Given the description of an element on the screen output the (x, y) to click on. 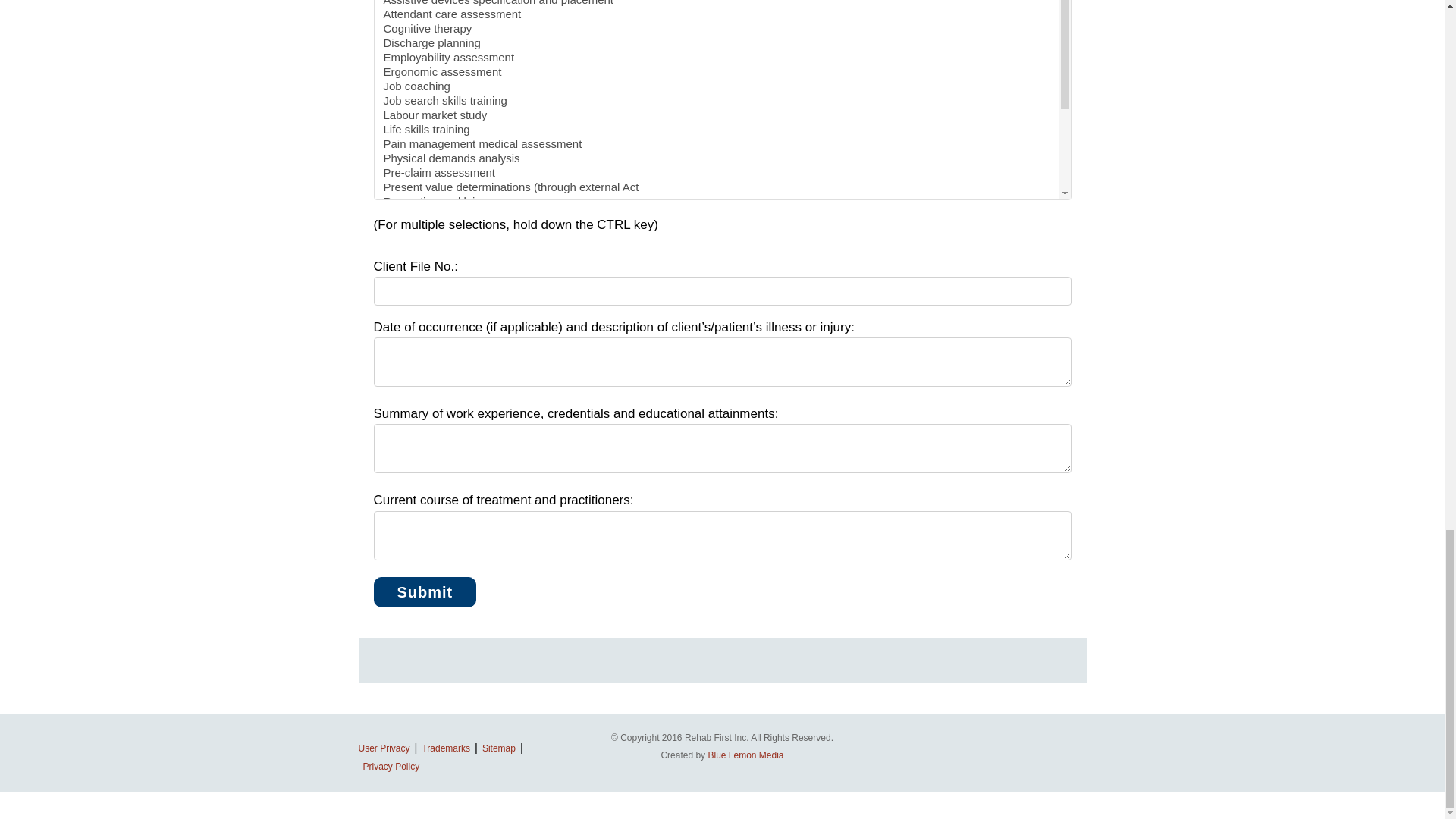
Referral Transmittal (424, 592)
